Given the description of an element on the screen output the (x, y) to click on. 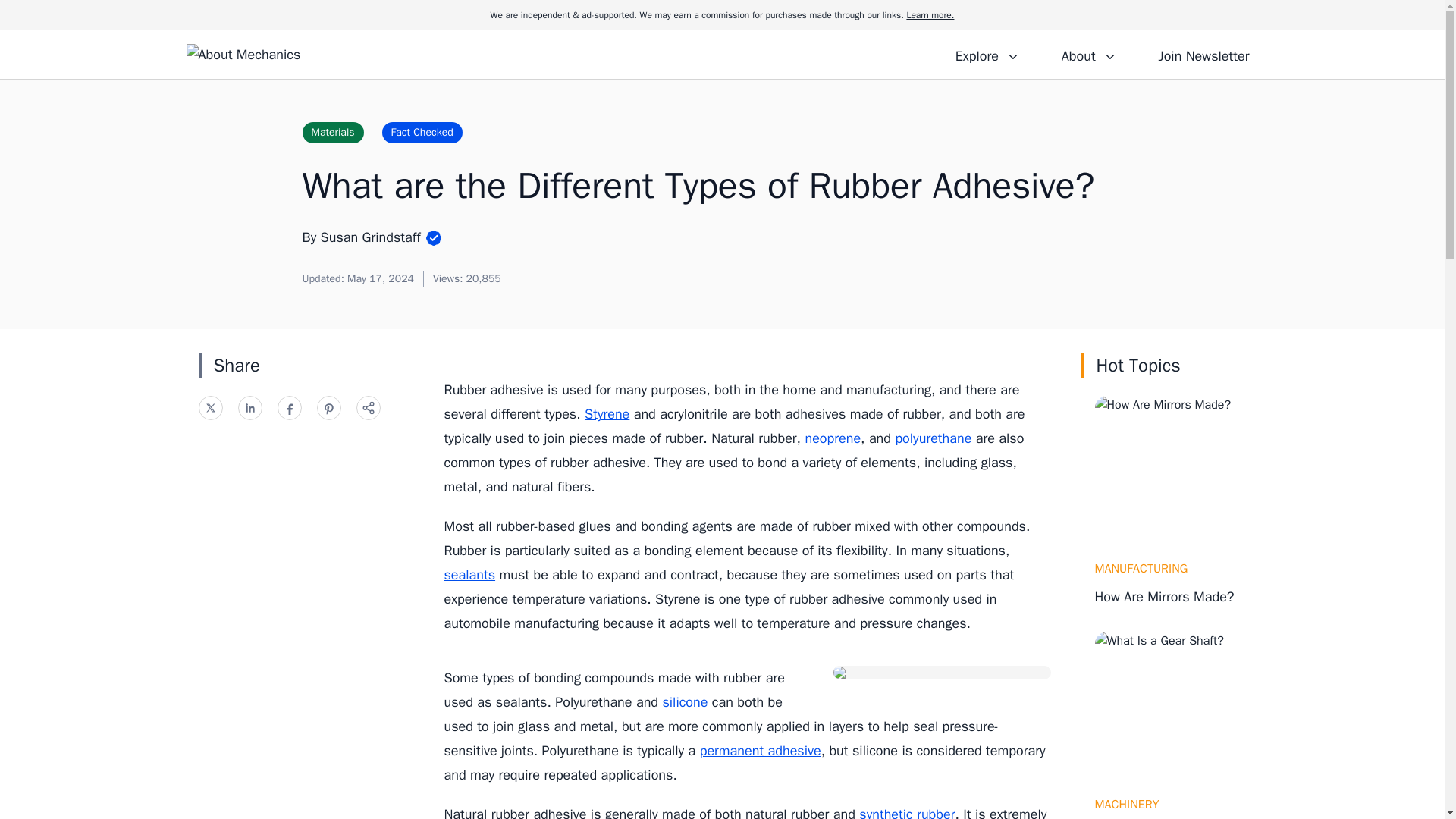
Explore (986, 54)
Join Newsletter (1202, 54)
Learn more. (929, 15)
About (1088, 54)
Materials (331, 132)
Fact Checked (422, 132)
